Given the description of an element on the screen output the (x, y) to click on. 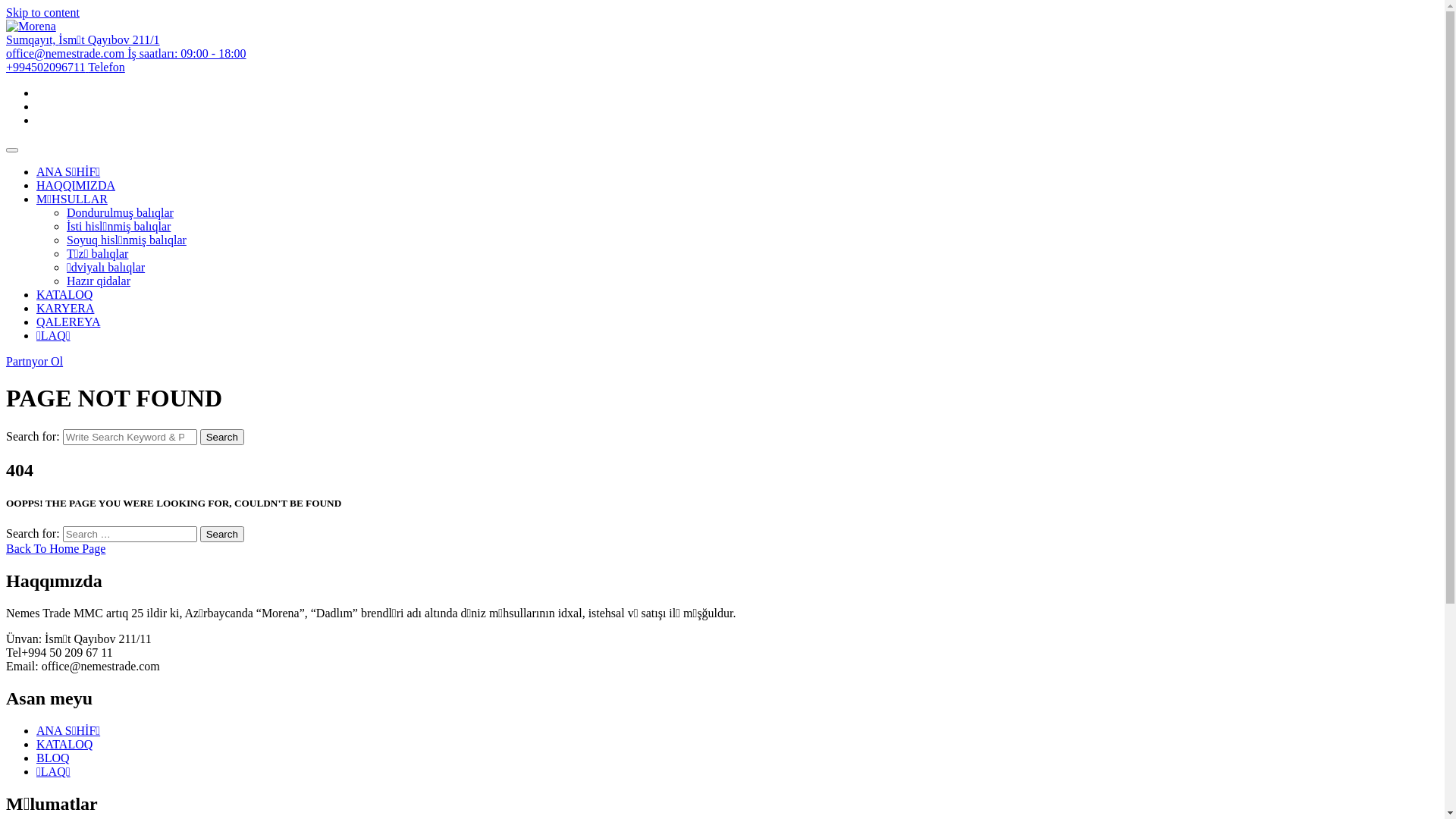
Search Element type: text (222, 437)
Skip to content Element type: text (42, 12)
Back To Home Page Element type: text (55, 548)
HAQQIMIZDA Element type: text (75, 184)
KARYERA Element type: text (65, 307)
Search Element type: text (222, 534)
KATALOQ Element type: text (64, 743)
KATALOQ Element type: text (64, 294)
Morena Element type: hover (31, 26)
BLOQ Element type: text (52, 757)
QALEREYA Element type: text (68, 321)
Partnyor Ol Element type: text (34, 360)
+994502096711 Telefon Element type: text (65, 66)
